Given the description of an element on the screen output the (x, y) to click on. 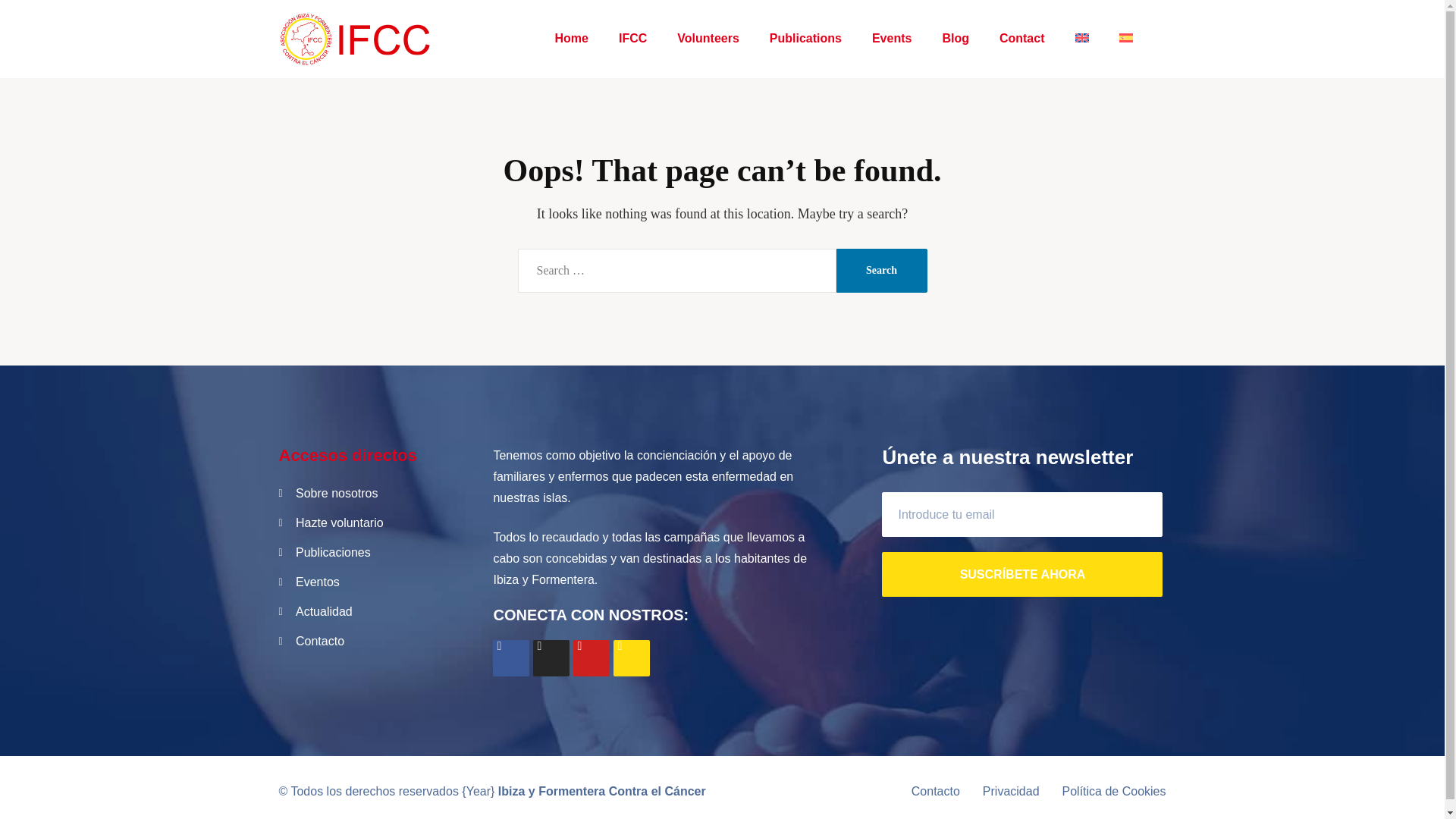
Hazte voluntario (374, 523)
Contacto (935, 791)
Privacidad (844, 38)
Search (1010, 791)
Actualidad (880, 270)
IFCC (374, 611)
Search (633, 38)
Contact (880, 270)
Blog (1021, 38)
